Given the description of an element on the screen output the (x, y) to click on. 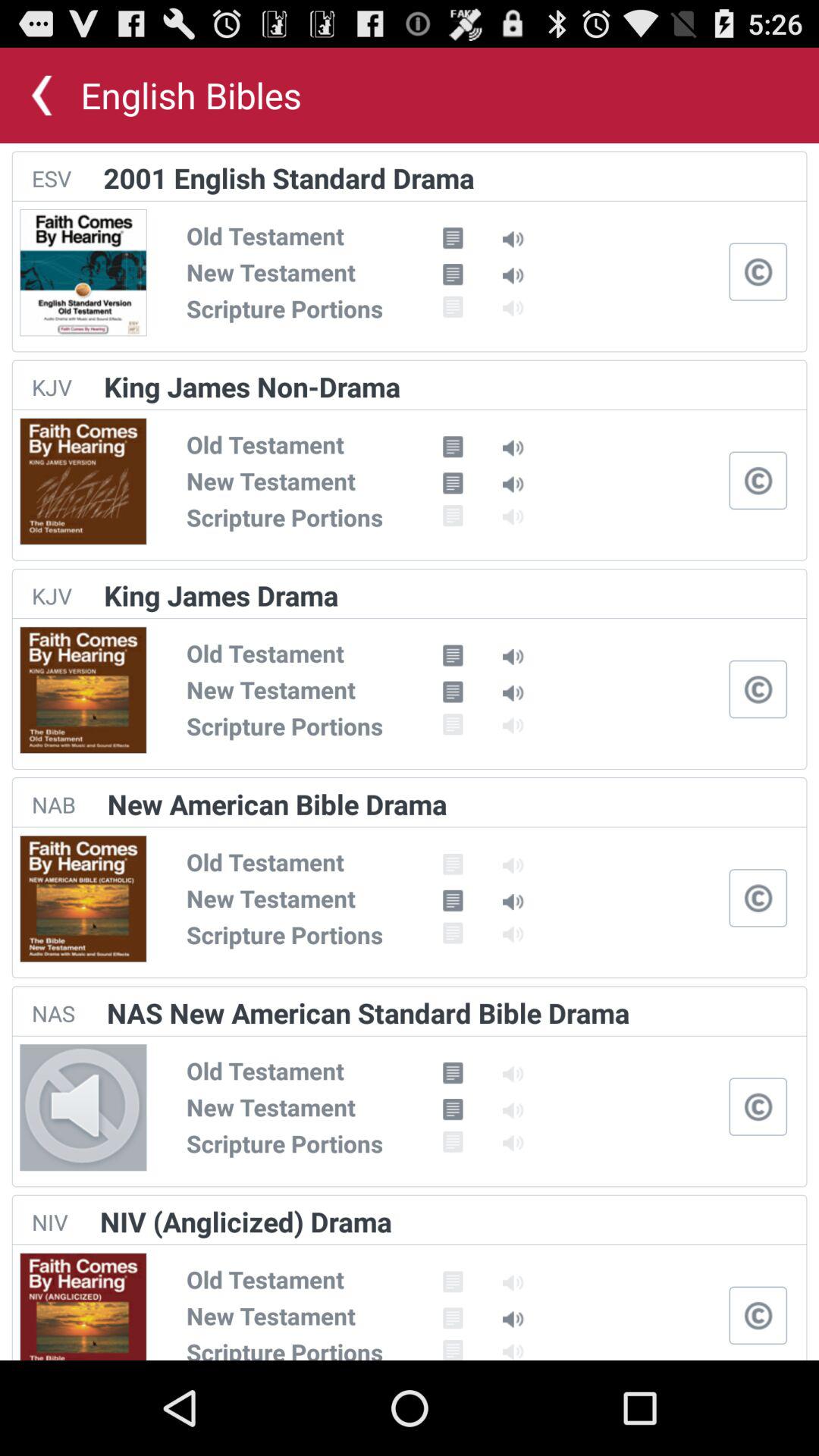
play and pause (758, 1106)
